Given the description of an element on the screen output the (x, y) to click on. 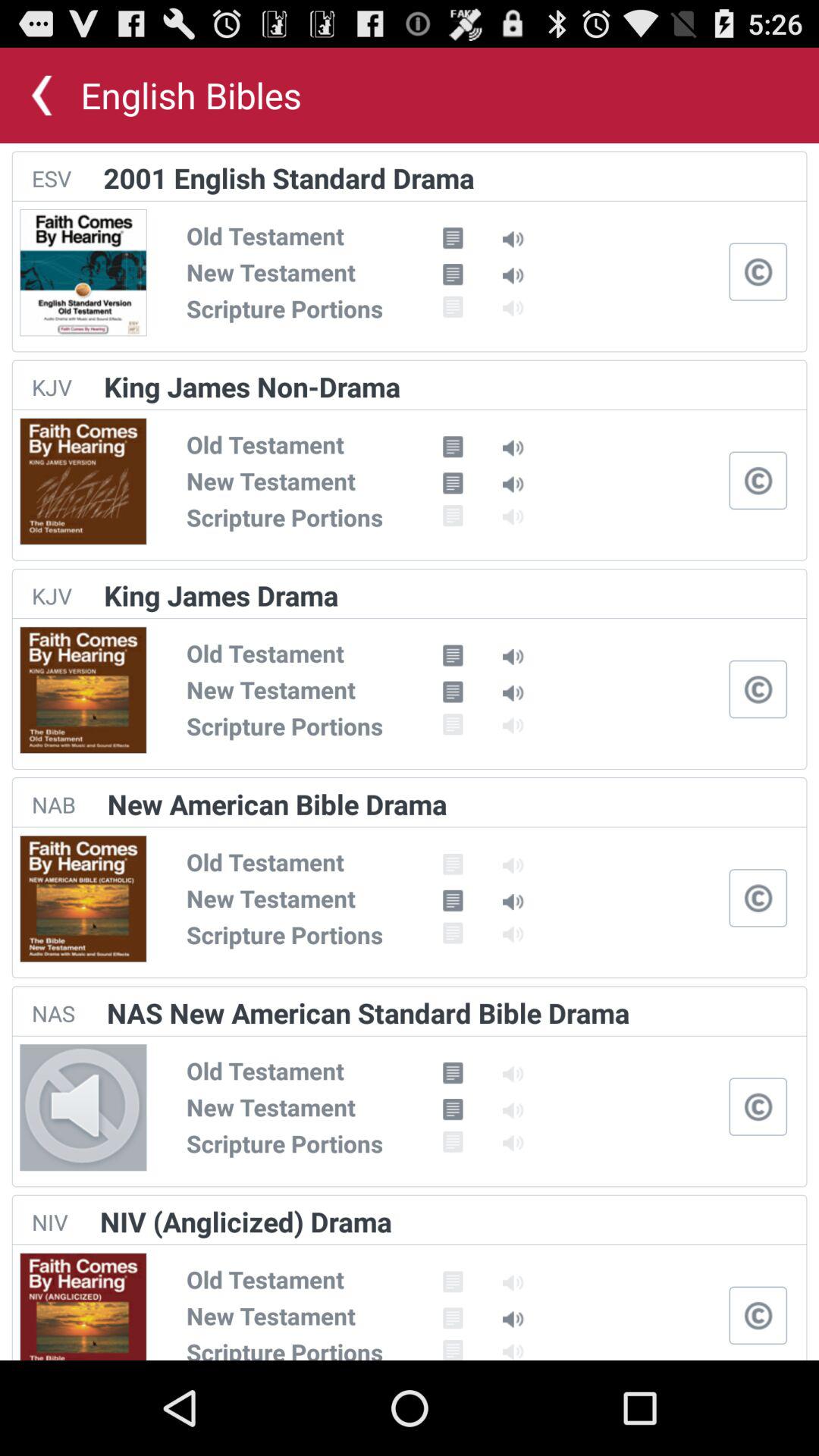
play and pause (758, 1106)
